Given the description of an element on the screen output the (x, y) to click on. 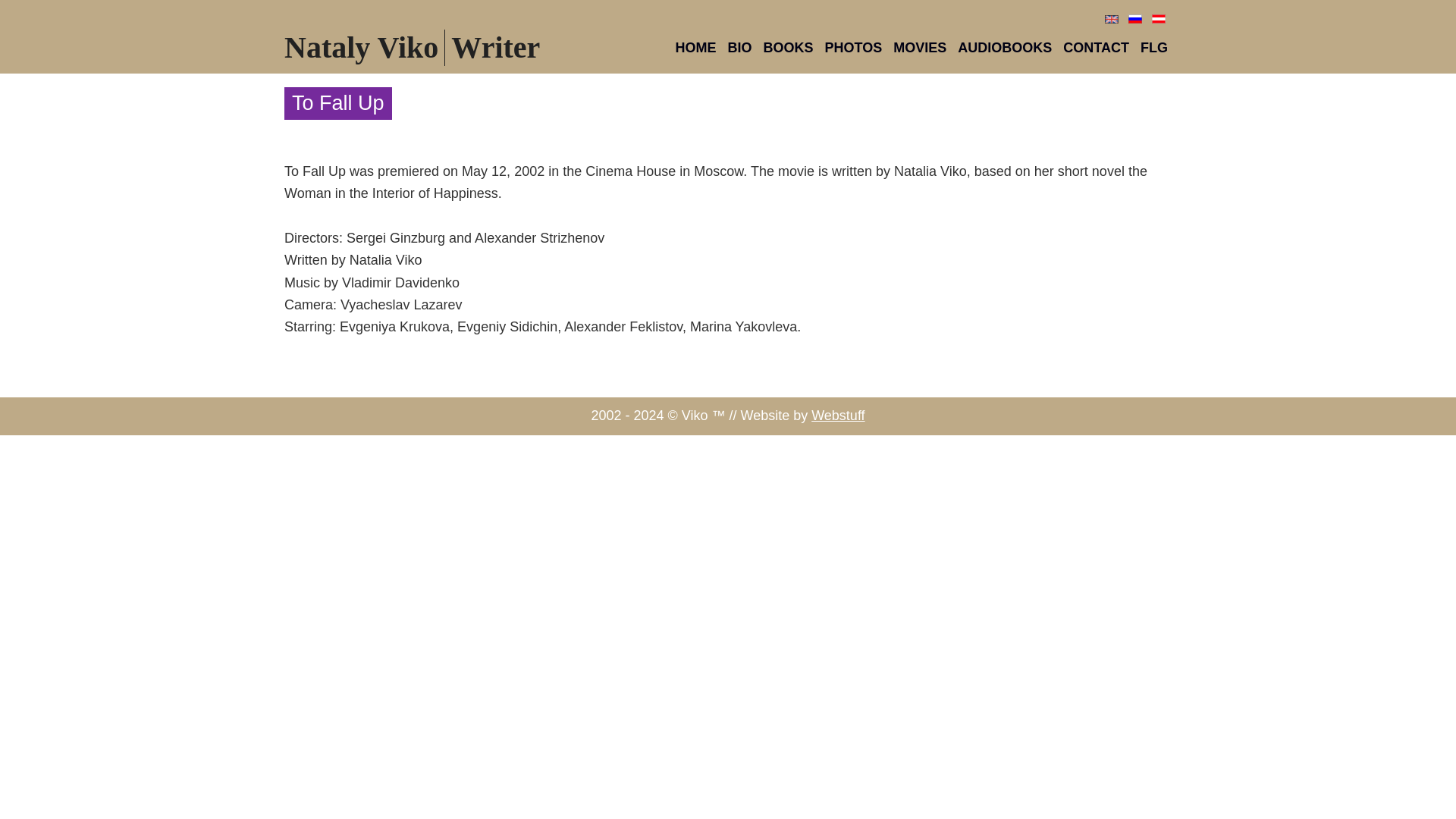
AUDIOBOOKS (1004, 47)
BOOKS (787, 47)
flag (1111, 19)
Webstuff (837, 415)
CONTACT (1095, 47)
PHOTOS (853, 47)
HOME (695, 47)
Nataly Viko (360, 47)
FLG (1153, 47)
BIO (738, 47)
MOVIES (919, 47)
